Given the description of an element on the screen output the (x, y) to click on. 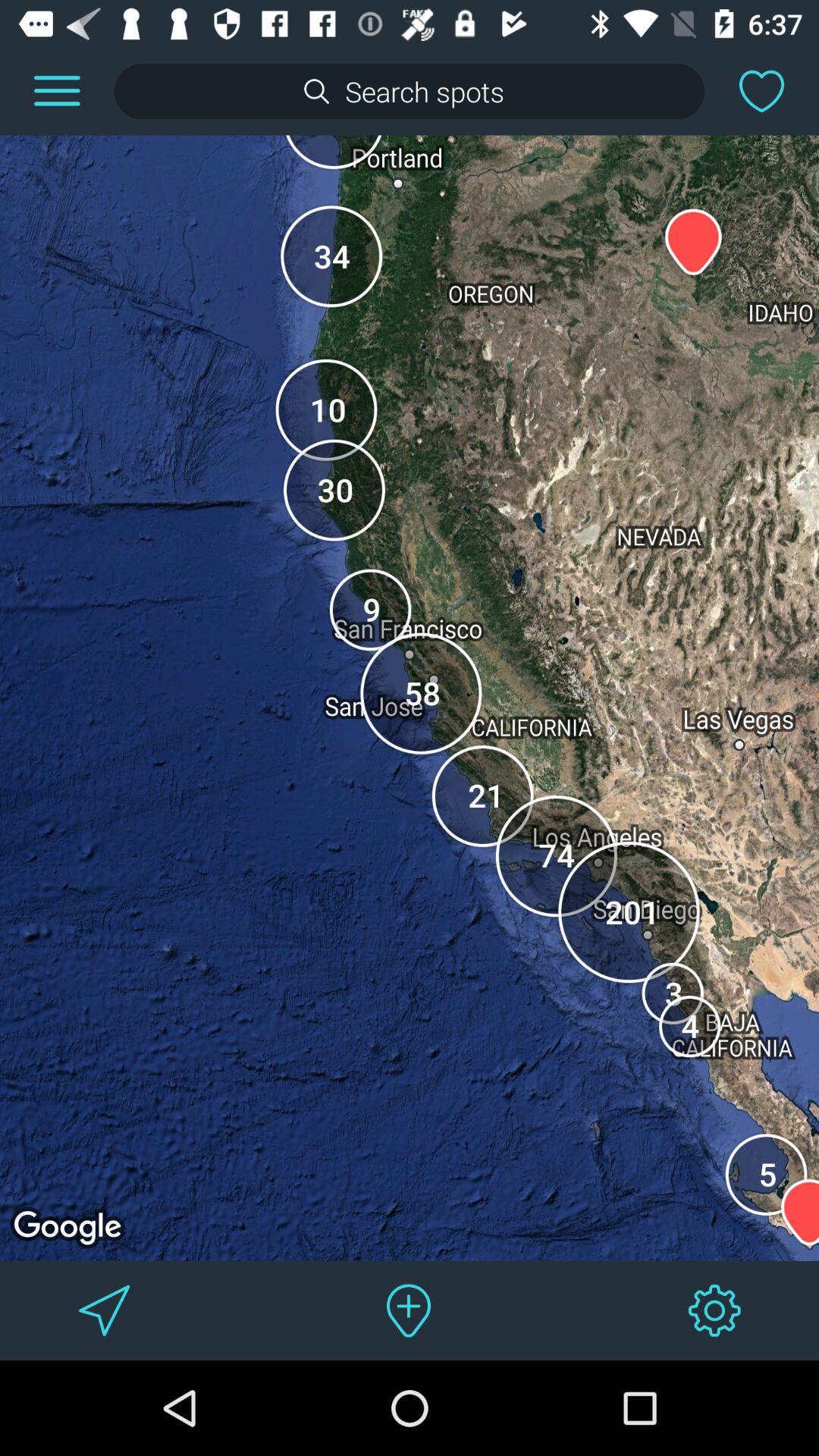
enter search criteria (409, 91)
